Given the description of an element on the screen output the (x, y) to click on. 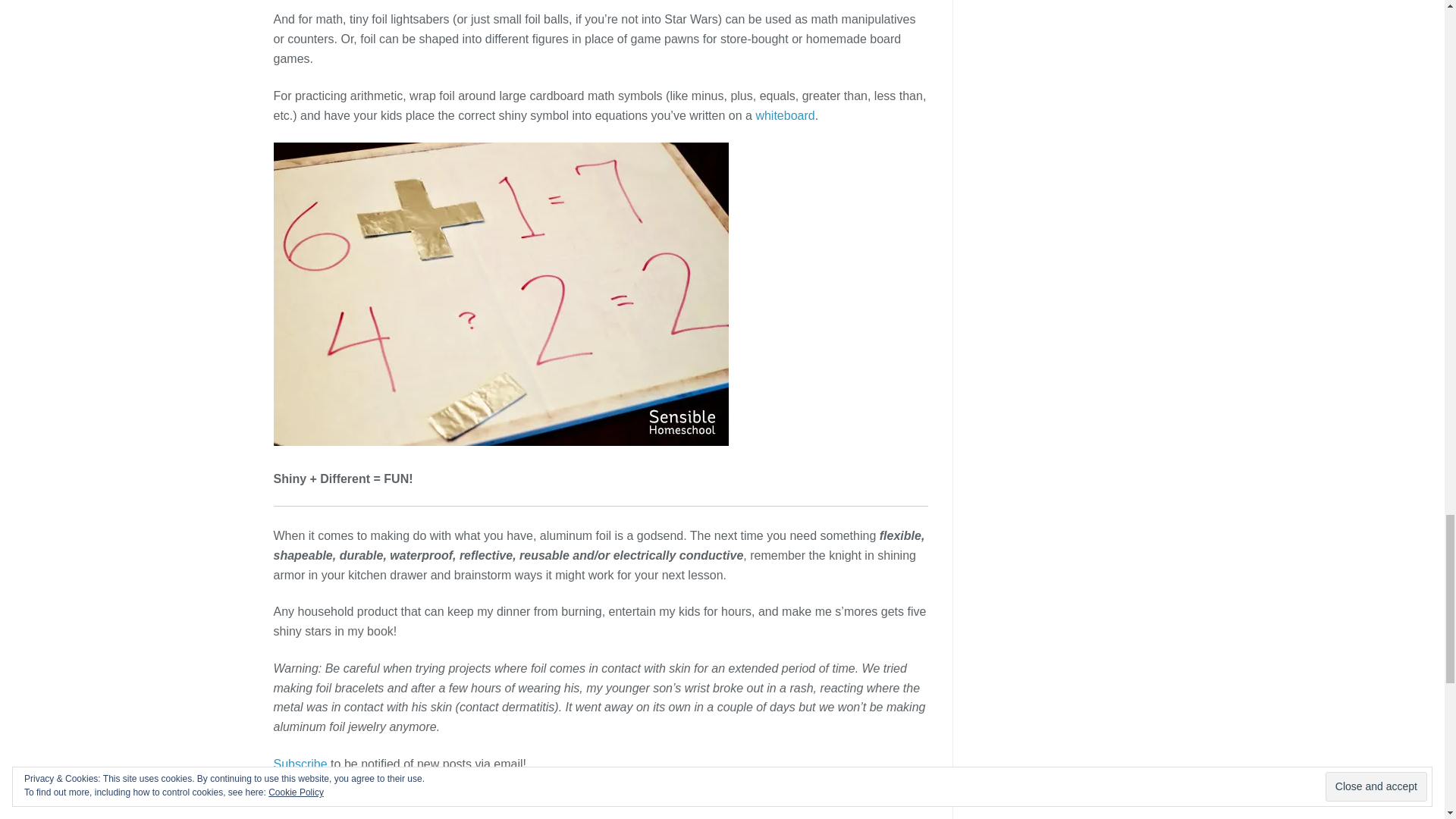
Subscribe (299, 763)
whiteboard (784, 115)
